Given the description of an element on the screen output the (x, y) to click on. 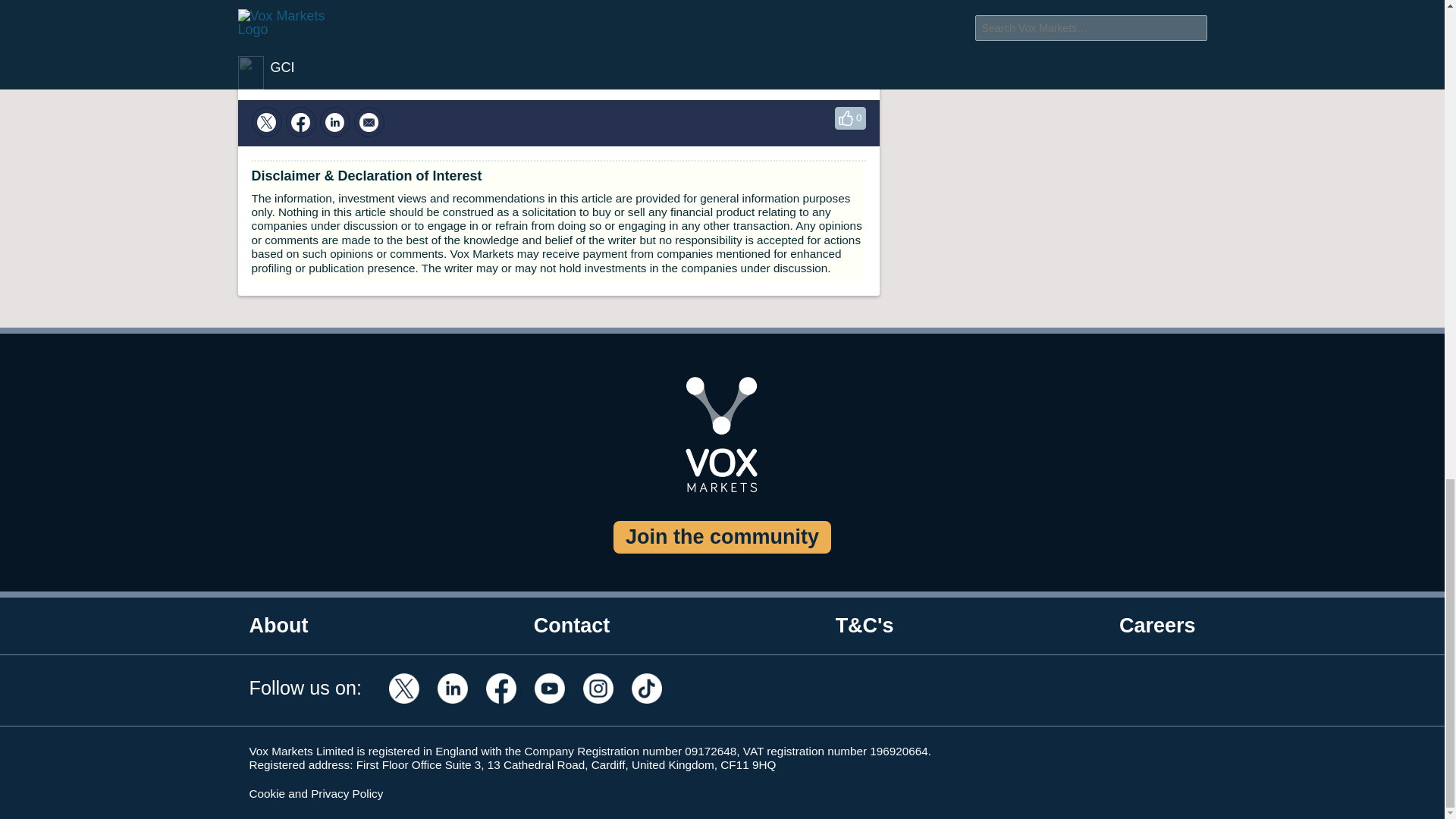
Facebook (300, 122)
About (277, 625)
Email (368, 122)
0 (849, 118)
Careers (1157, 625)
Contact (572, 625)
LinkedIn (335, 122)
Cookie and Privacy Policy (315, 792)
Join the community (721, 536)
